Given the description of an element on the screen output the (x, y) to click on. 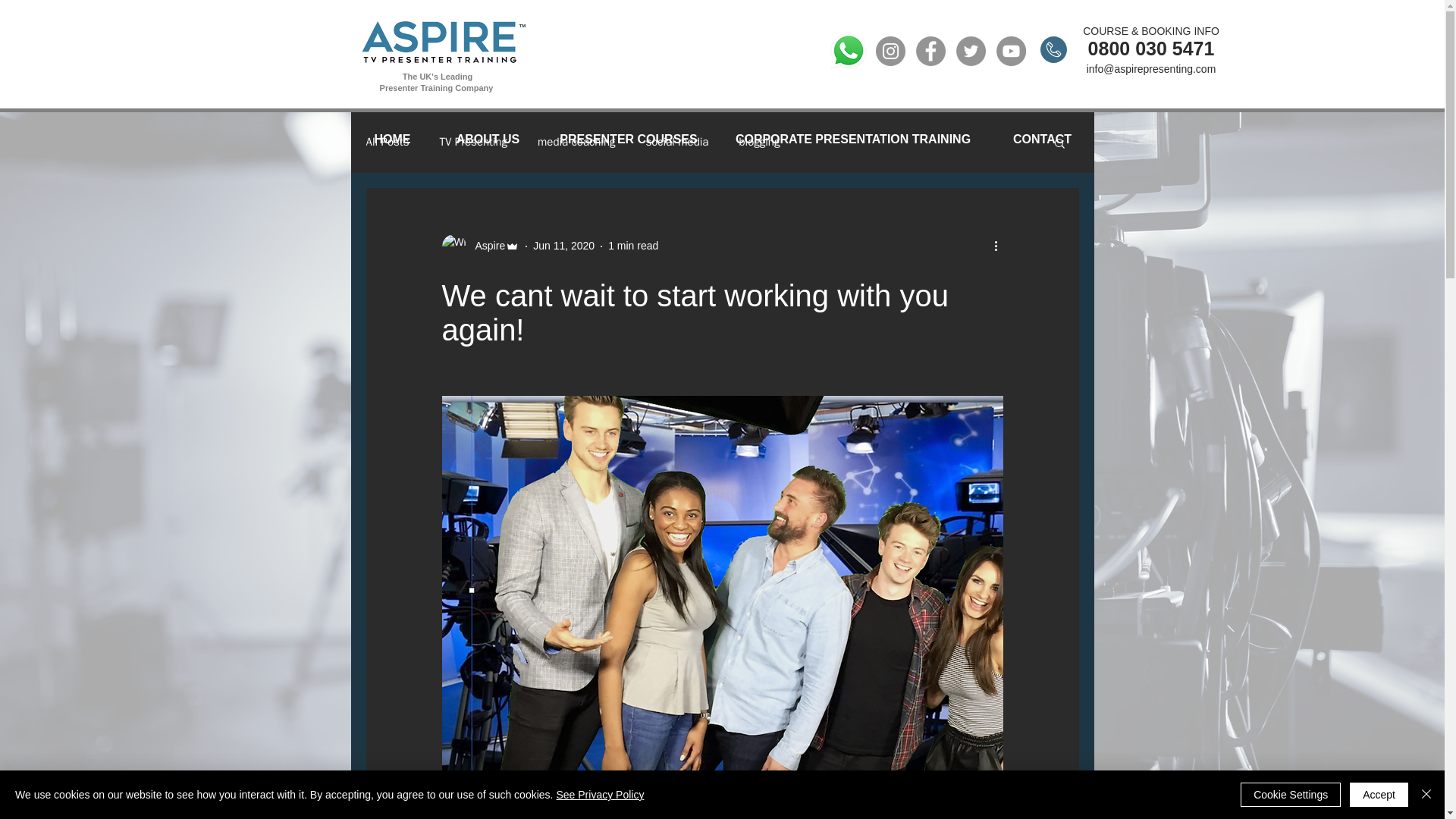
Aspire (480, 246)
1 min read (633, 245)
TV Presenting (472, 142)
Jun 11, 2020 (563, 245)
media coaching (575, 142)
social media (676, 142)
Aspire  (485, 245)
blogging (758, 142)
0800 030 5471 (1150, 47)
All Posts (387, 142)
